Given the description of an element on the screen output the (x, y) to click on. 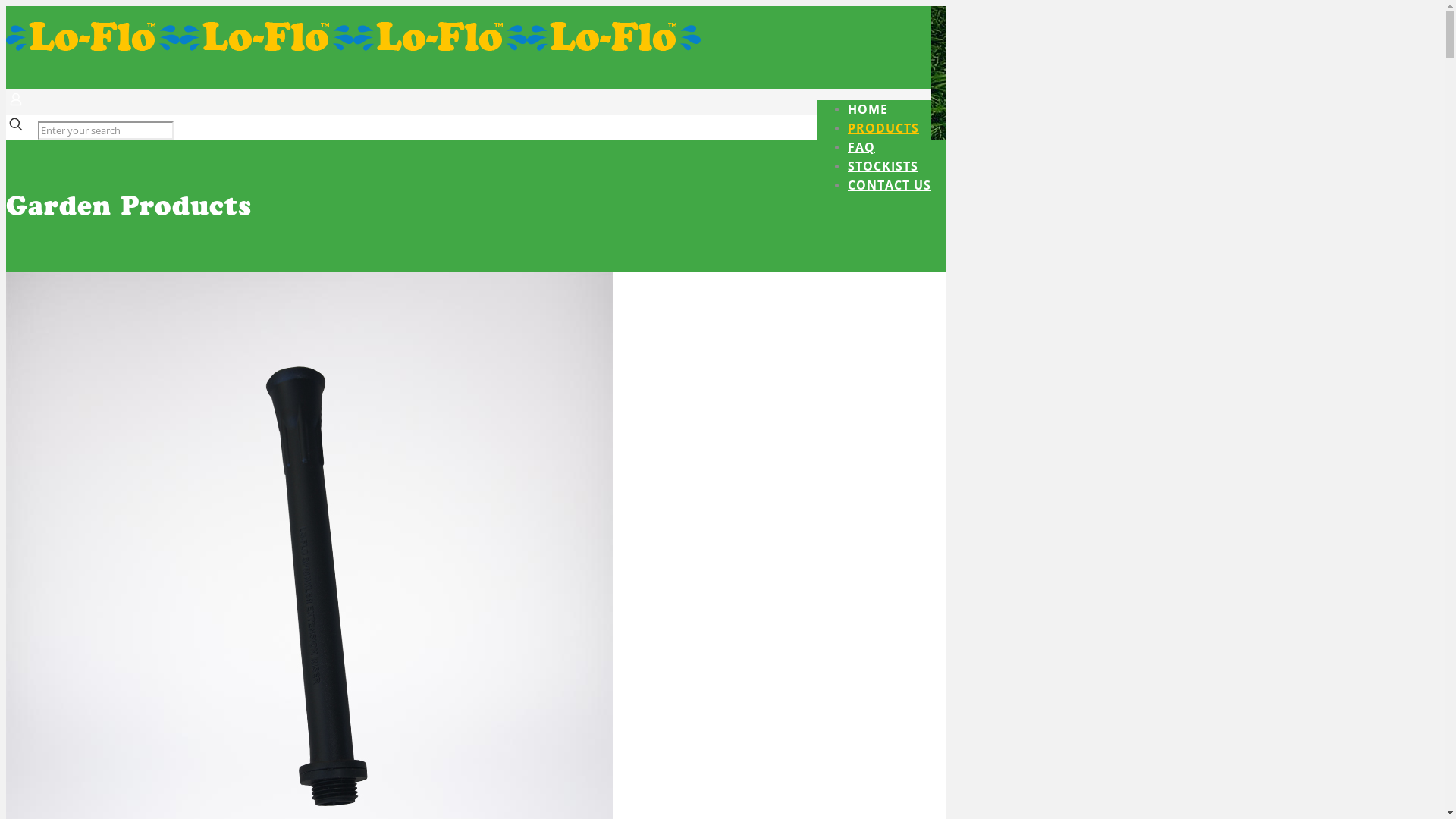
CONTACT US Element type: text (889, 184)
STOCKISTS Element type: text (882, 165)
PRODUCTS Element type: text (883, 127)
HOME Element type: text (867, 108)
FAQ Element type: text (861, 146)
